Given the description of an element on the screen output the (x, y) to click on. 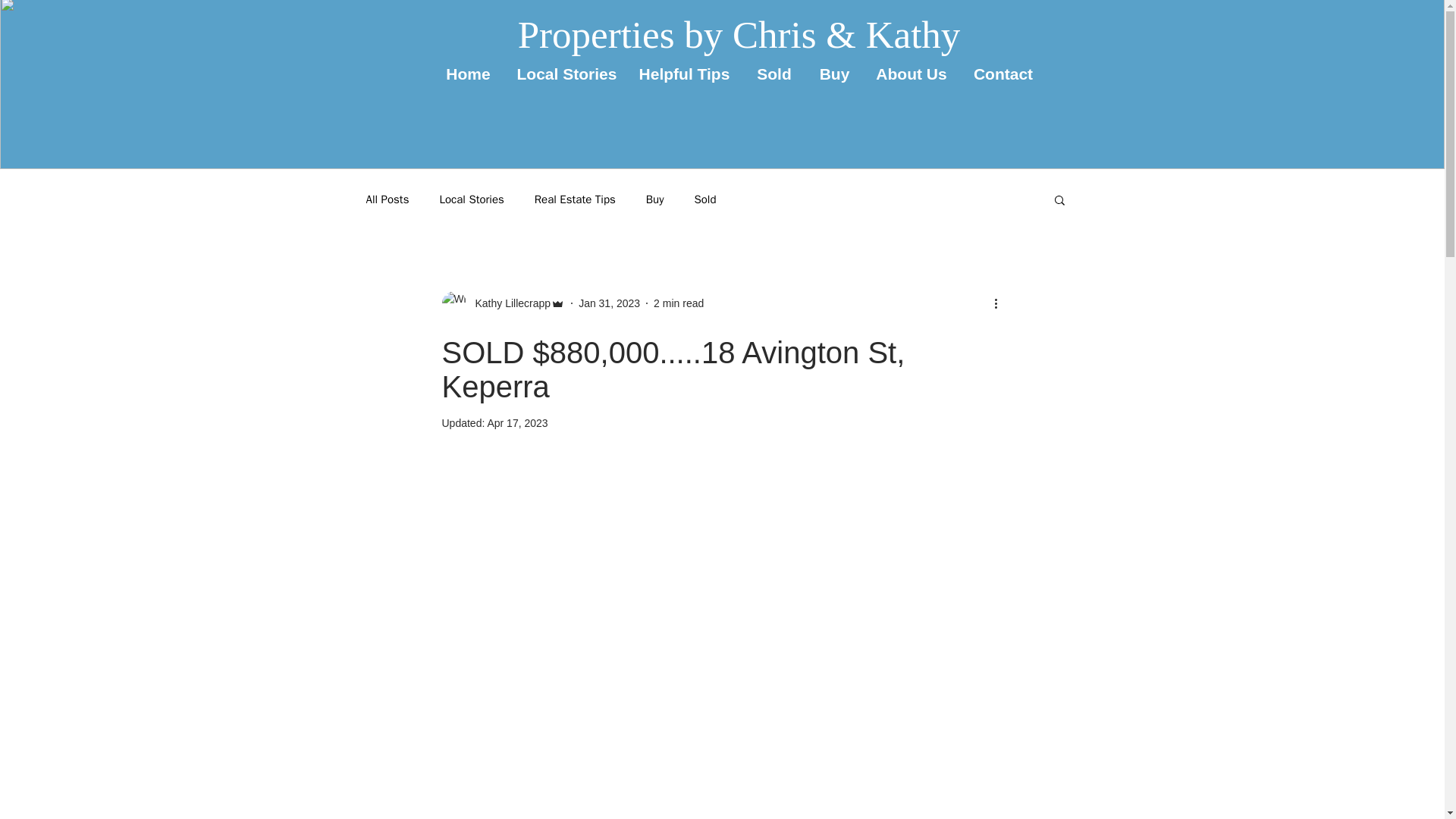
2 min read (678, 303)
Kathy Lillecrapp (502, 303)
Local Stories (565, 70)
Helpful Tips (684, 70)
Home (467, 70)
Jan 31, 2023 (609, 303)
Sold (705, 199)
Apr 17, 2023 (516, 422)
All Posts (387, 199)
Buy (654, 199)
Real Estate Tips (574, 199)
Buy (834, 70)
Kathy Lillecrapp (507, 303)
Local Stories (471, 199)
Sold (774, 70)
